Given the description of an element on the screen output the (x, y) to click on. 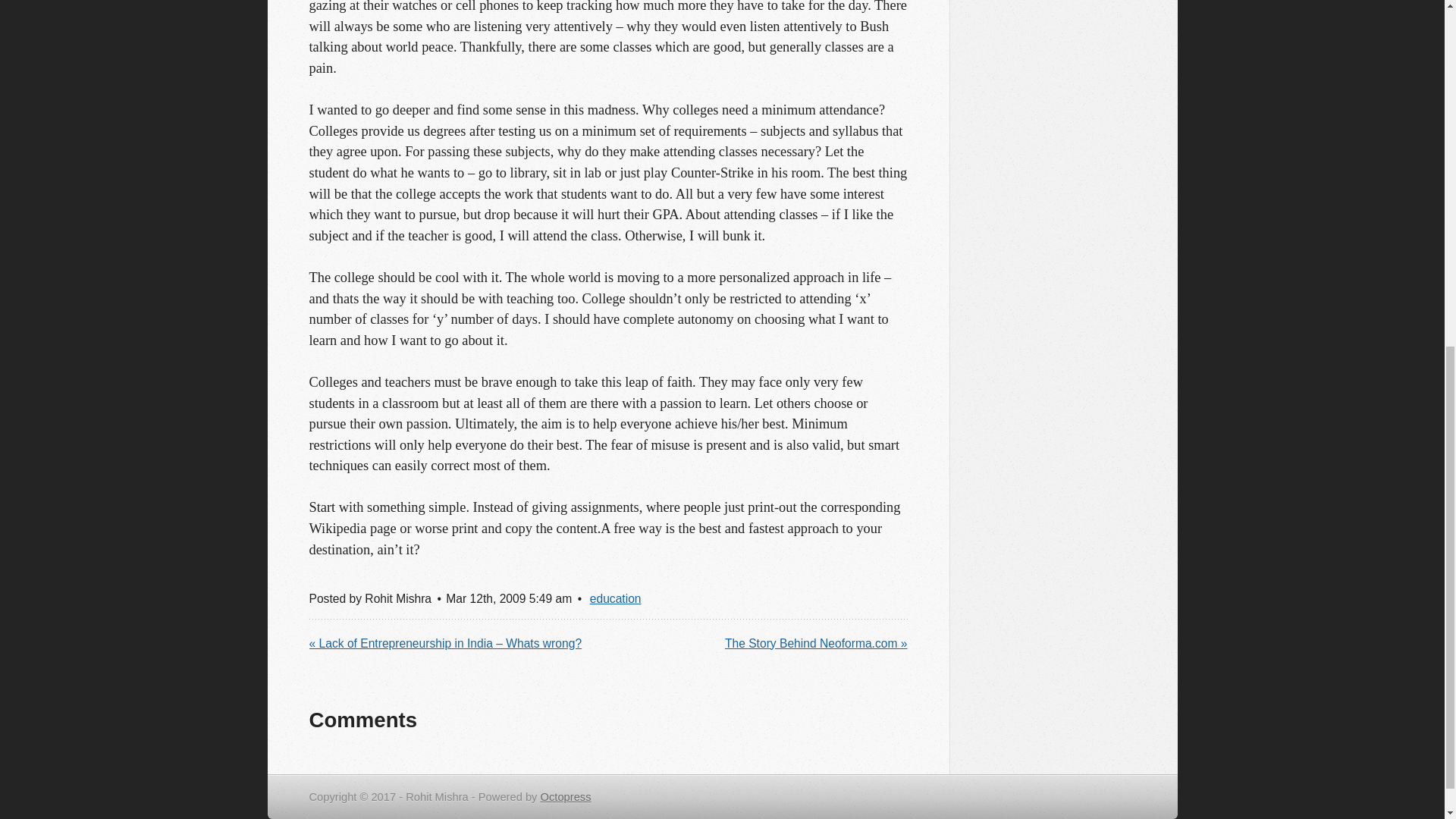
Octopress (565, 797)
Next Post: The Story Behind Neoforma.com (816, 643)
education (615, 598)
